Given the description of an element on the screen output the (x, y) to click on. 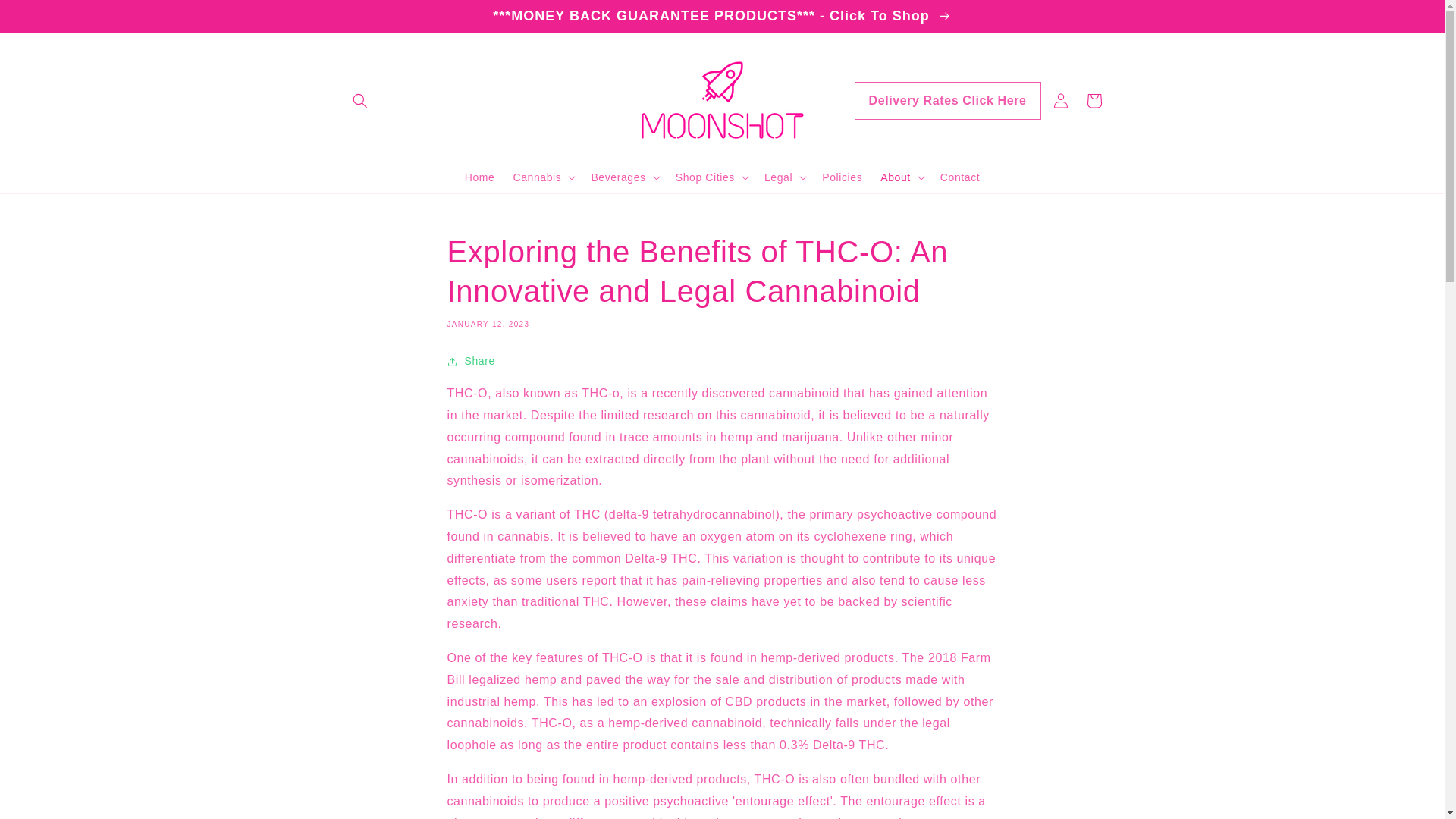
Skip to content (45, 17)
